Given the description of an element on the screen output the (x, y) to click on. 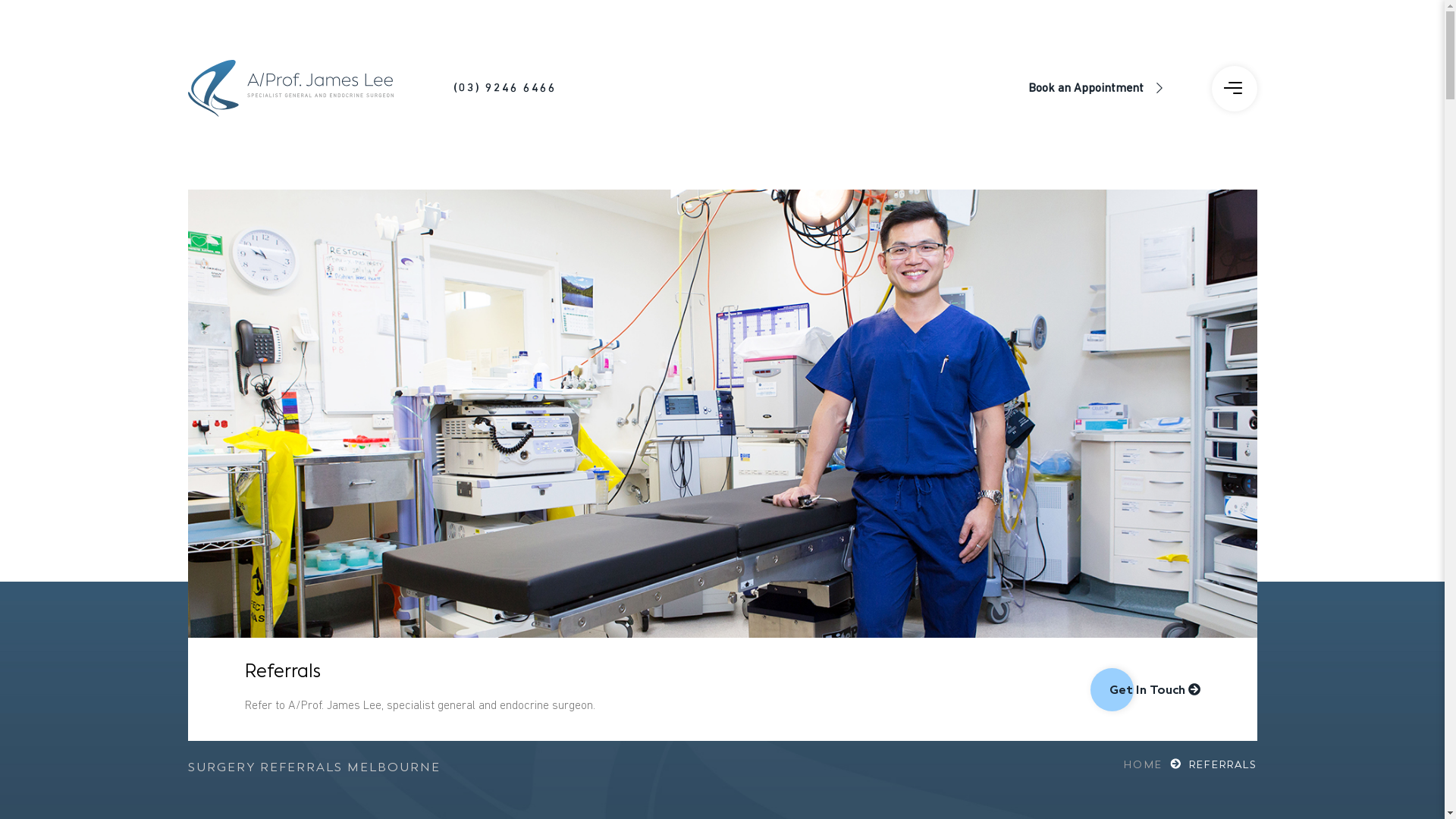
HOME Element type: text (1154, 765)
REFERRALS Element type: text (1223, 765)
Get In Touch Element type: text (1153, 689)
(03) 9246 6466 Element type: text (530, 88)
Book an Appointment Element type: text (1085, 88)
